Given the description of an element on the screen output the (x, y) to click on. 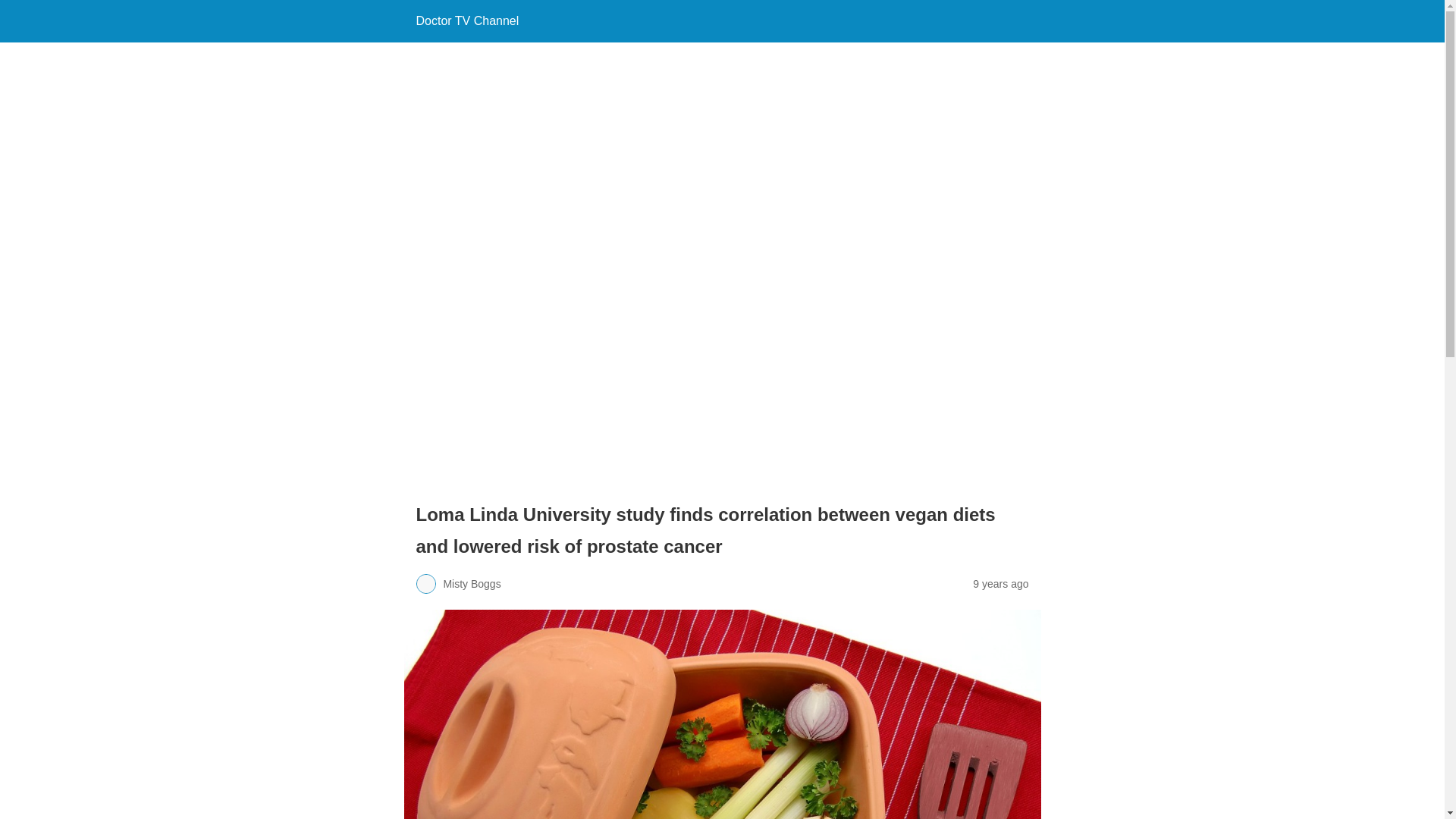
3rd party ad content (127, 148)
Doctor TV Channel (466, 20)
3rd party ad content (127, 367)
